Given the description of an element on the screen output the (x, y) to click on. 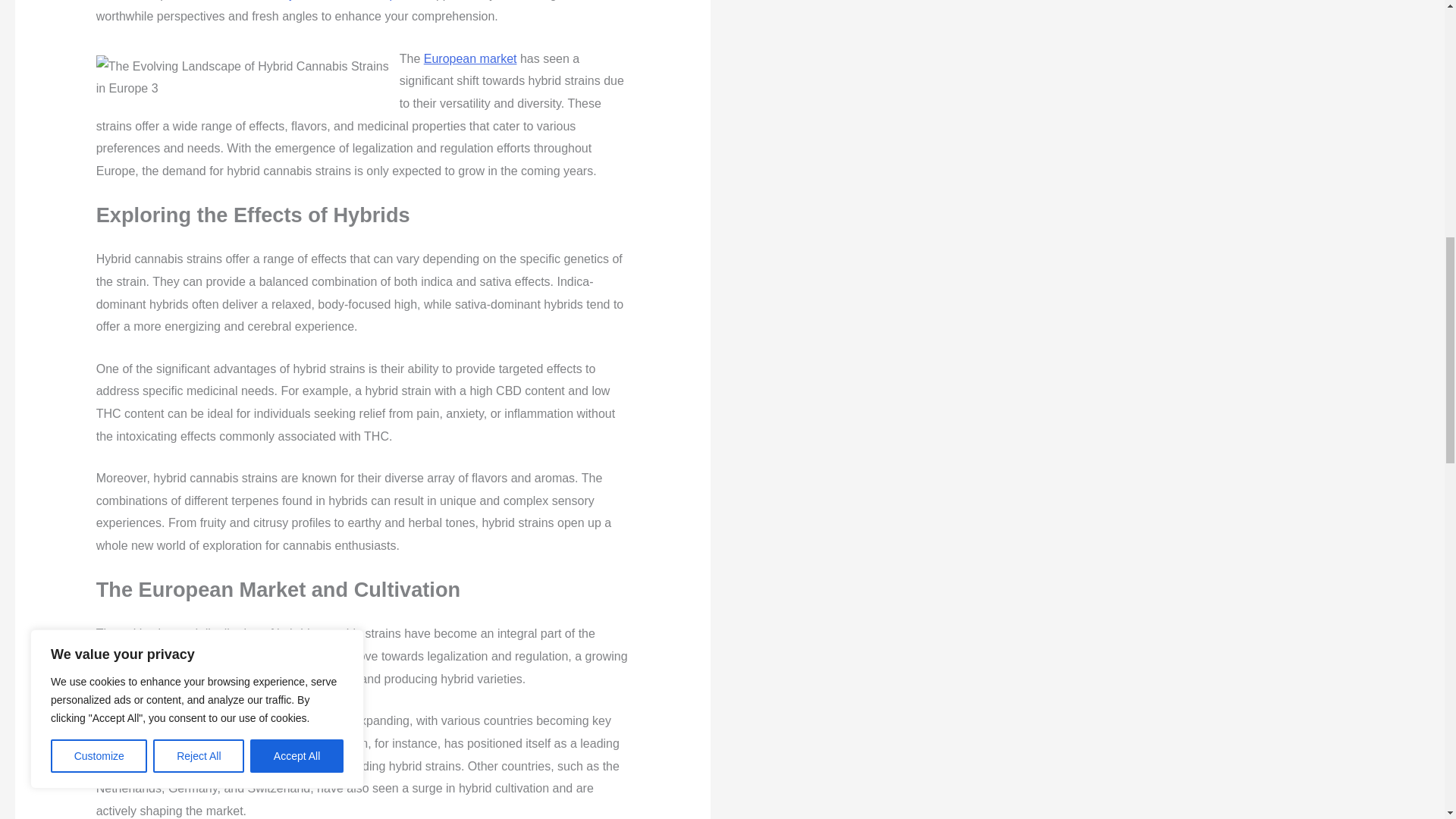
European market (469, 57)
